Given the description of an element on the screen output the (x, y) to click on. 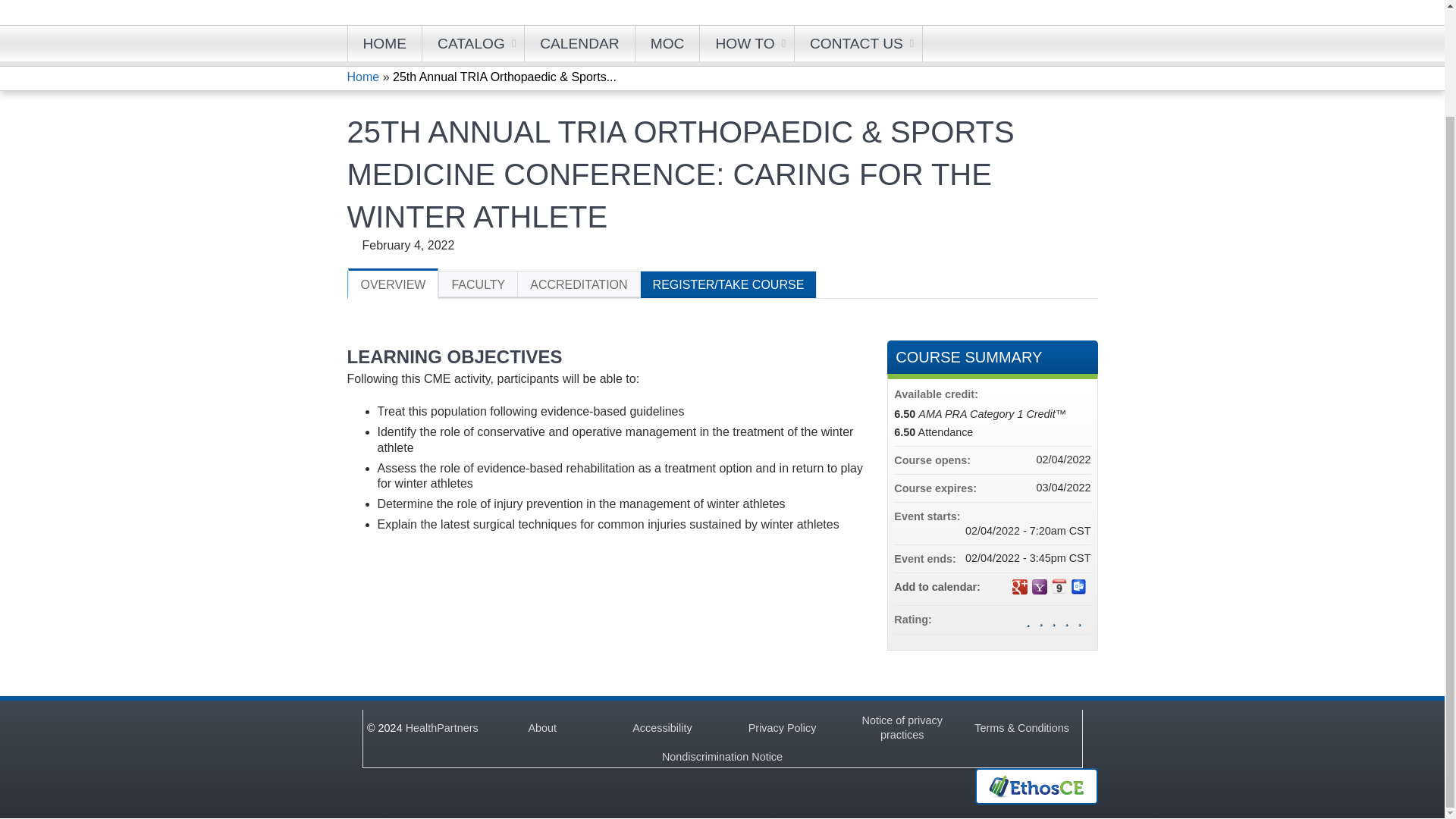
Yahoo calendar (1038, 586)
iCal (1058, 585)
Google calendar (1018, 586)
CATALOG (473, 43)
CALENDAR (579, 43)
Home (451, 4)
Outlook (1078, 586)
HOW TO (746, 43)
MOC (667, 43)
HOME (385, 43)
